Given the description of an element on the screen output the (x, y) to click on. 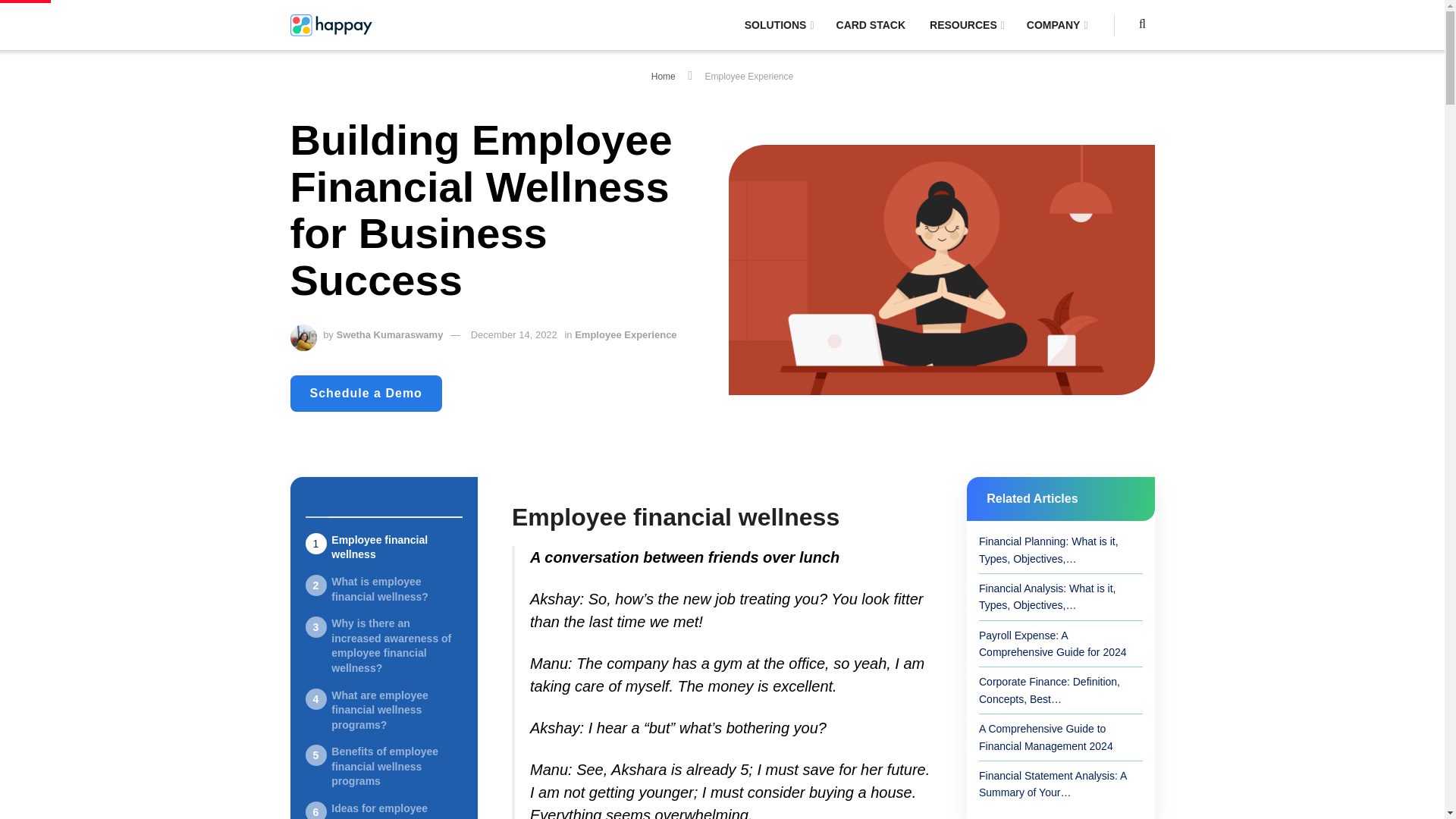
COMPANY (1055, 24)
CARD STACK (871, 24)
RESOURCES (965, 24)
What is employee financial wellness? (383, 589)
What are employee financial wellness programs? (383, 710)
Employee financial wellness (383, 547)
Benefits of employee financial wellness programs (383, 766)
SOLUTIONS (778, 24)
Ideas for employee financial wellness programs (383, 810)
